Given the description of an element on the screen output the (x, y) to click on. 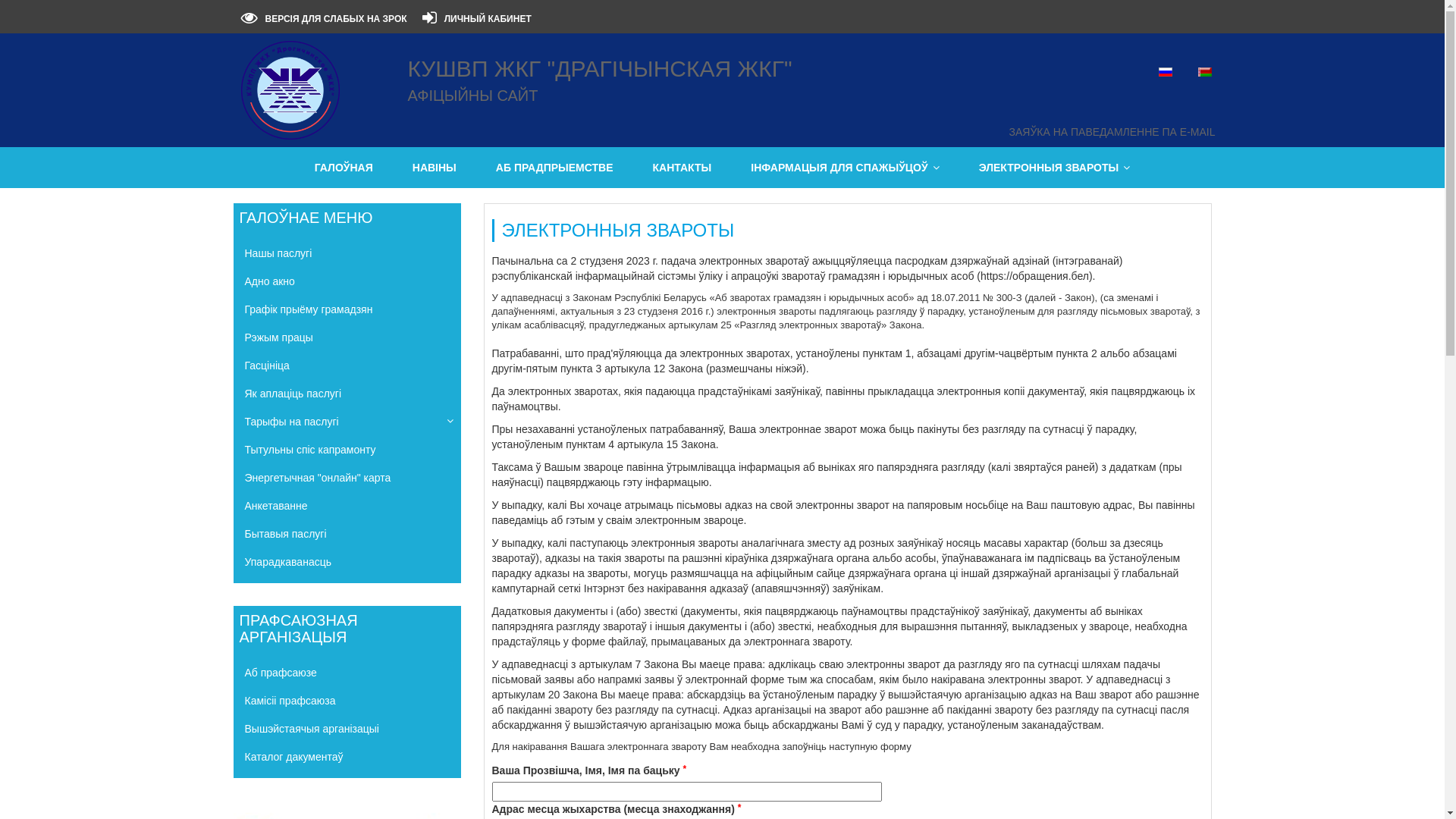
Belarusian (be-BY) Element type: hover (1204, 71)
